Given the description of an element on the screen output the (x, y) to click on. 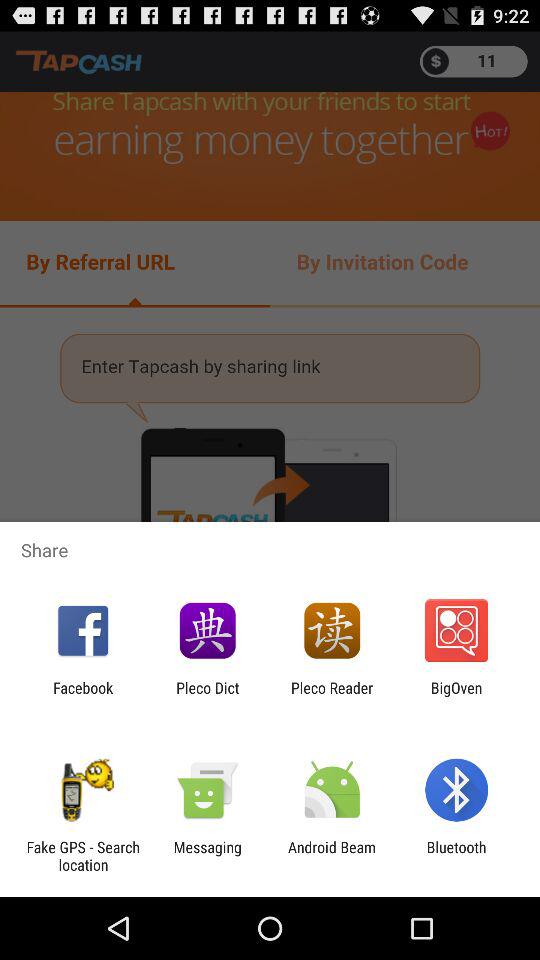
scroll until the fake gps search app (83, 856)
